Given the description of an element on the screen output the (x, y) to click on. 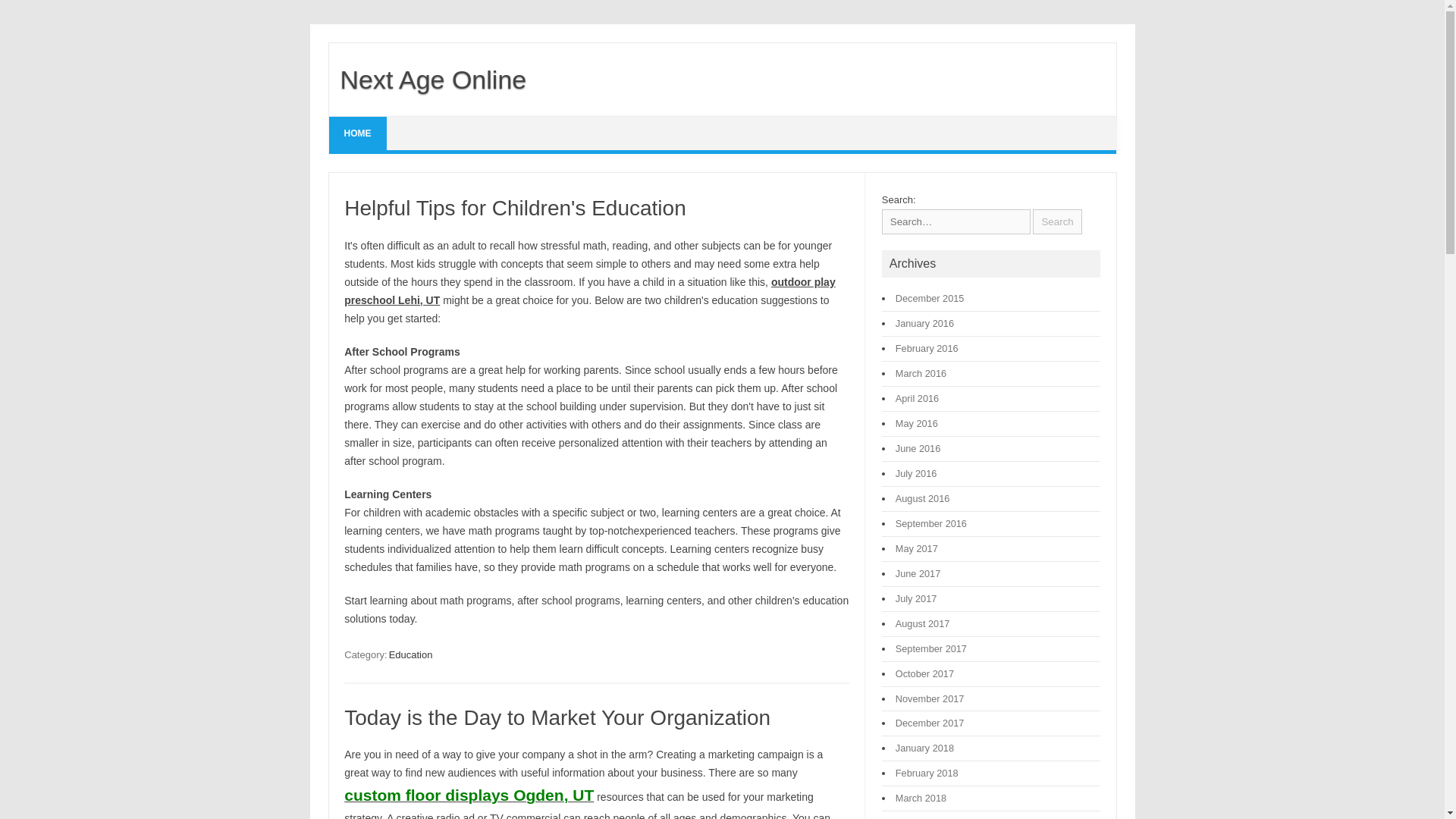
June 2016 (917, 448)
View all posts in Education (410, 654)
May 2017 (916, 548)
Search (1056, 221)
December 2015 (929, 297)
July 2017 (916, 598)
HOME (358, 133)
Search (1056, 221)
May 2016 (916, 423)
August 2016 (922, 498)
Today is the Day to Market Your Organization (556, 717)
September 2017 (930, 648)
Next Age Online (428, 79)
January 2016 (924, 323)
February 2016 (926, 348)
